Given the description of an element on the screen output the (x, y) to click on. 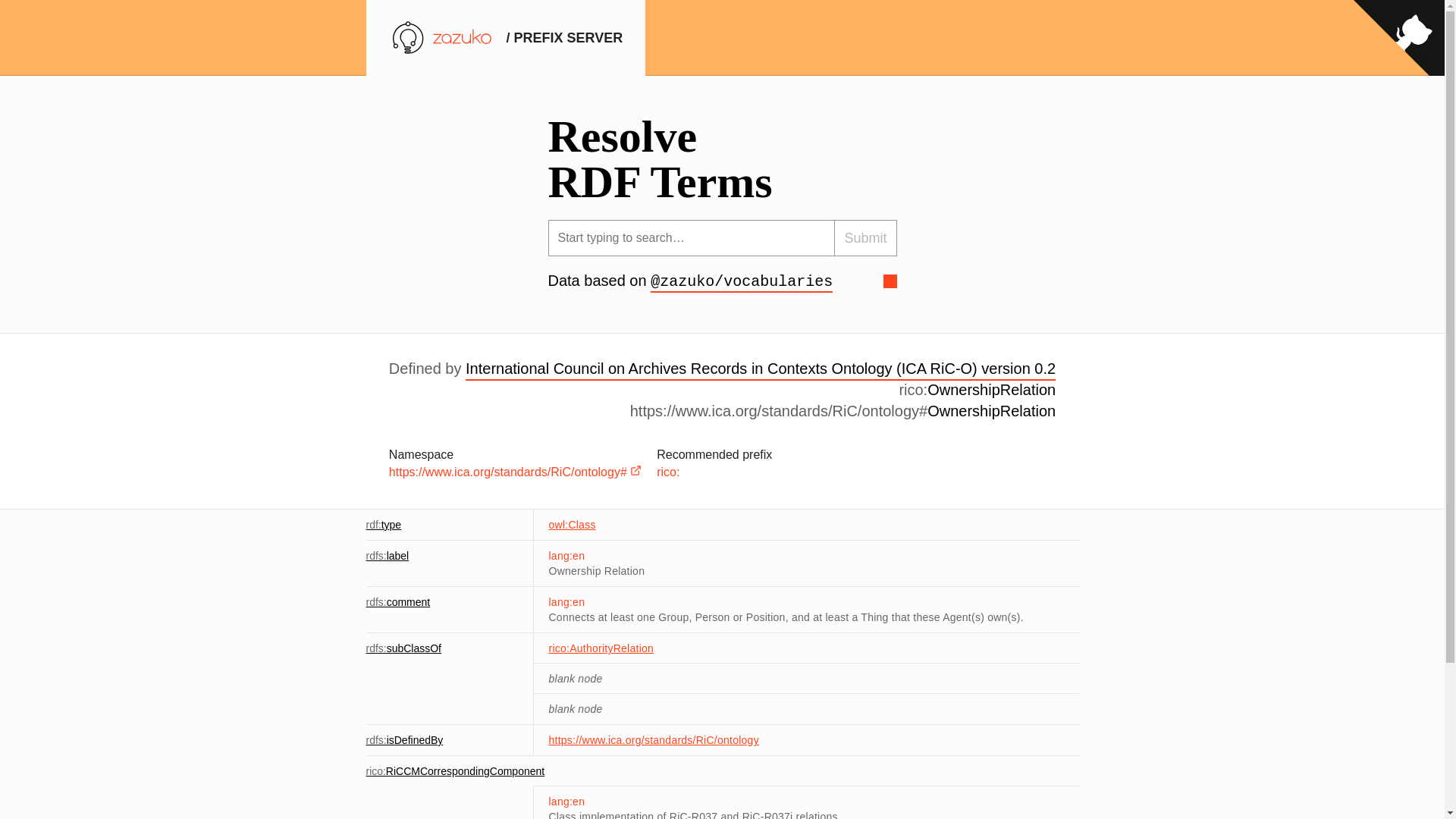
rico: (667, 472)
Submit (865, 238)
rico:AuthorityRelation (600, 648)
rdfs: label (387, 555)
rdf: type (383, 524)
rdfs: subClassOf (403, 648)
rdfs: isDefinedBy (403, 739)
rdfs: comment (397, 602)
rico: RiCCMCorrespondingComponent (454, 770)
owl:Class (571, 524)
